Given the description of an element on the screen output the (x, y) to click on. 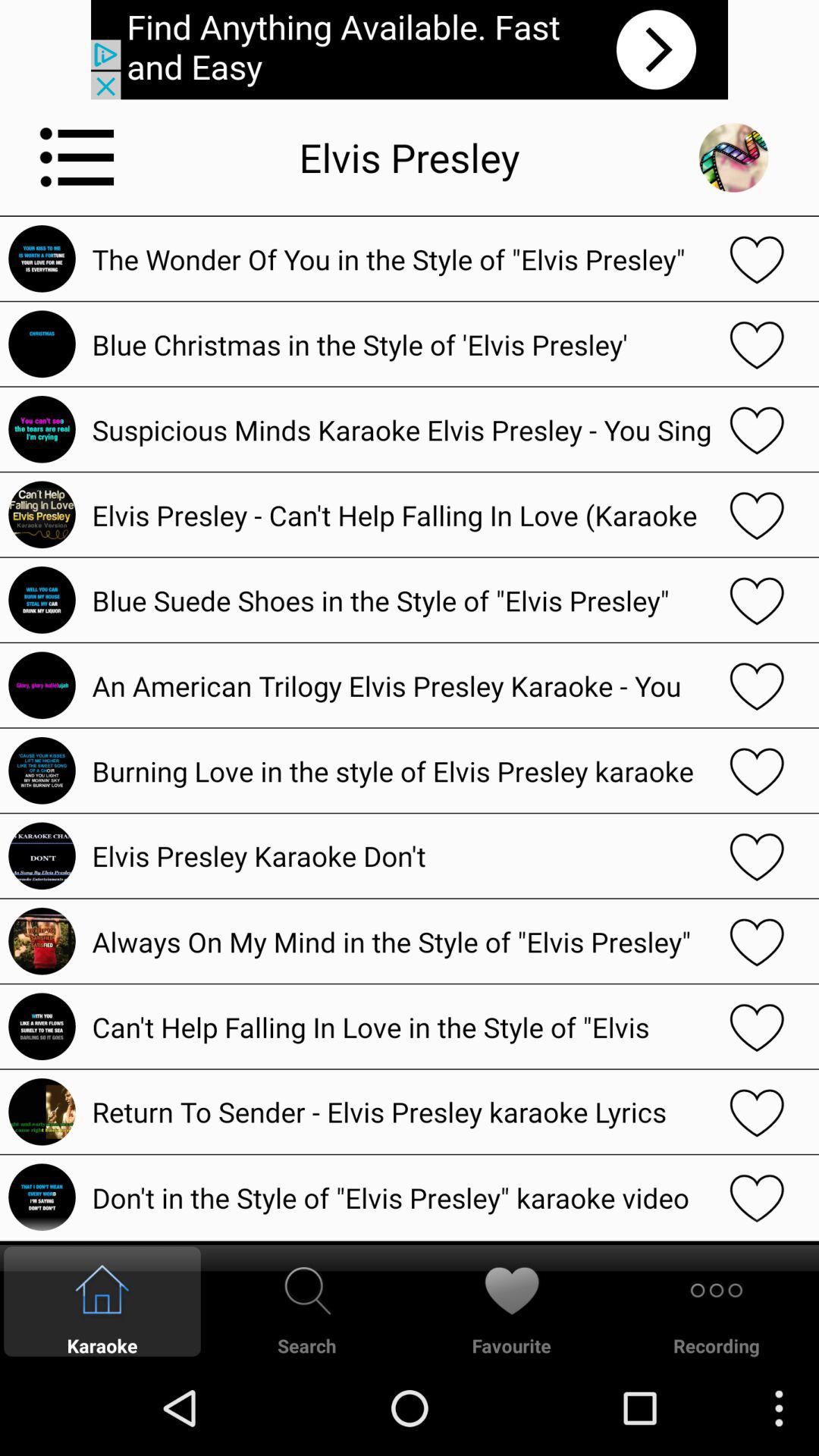
love the post option (756, 1197)
